Given the description of an element on the screen output the (x, y) to click on. 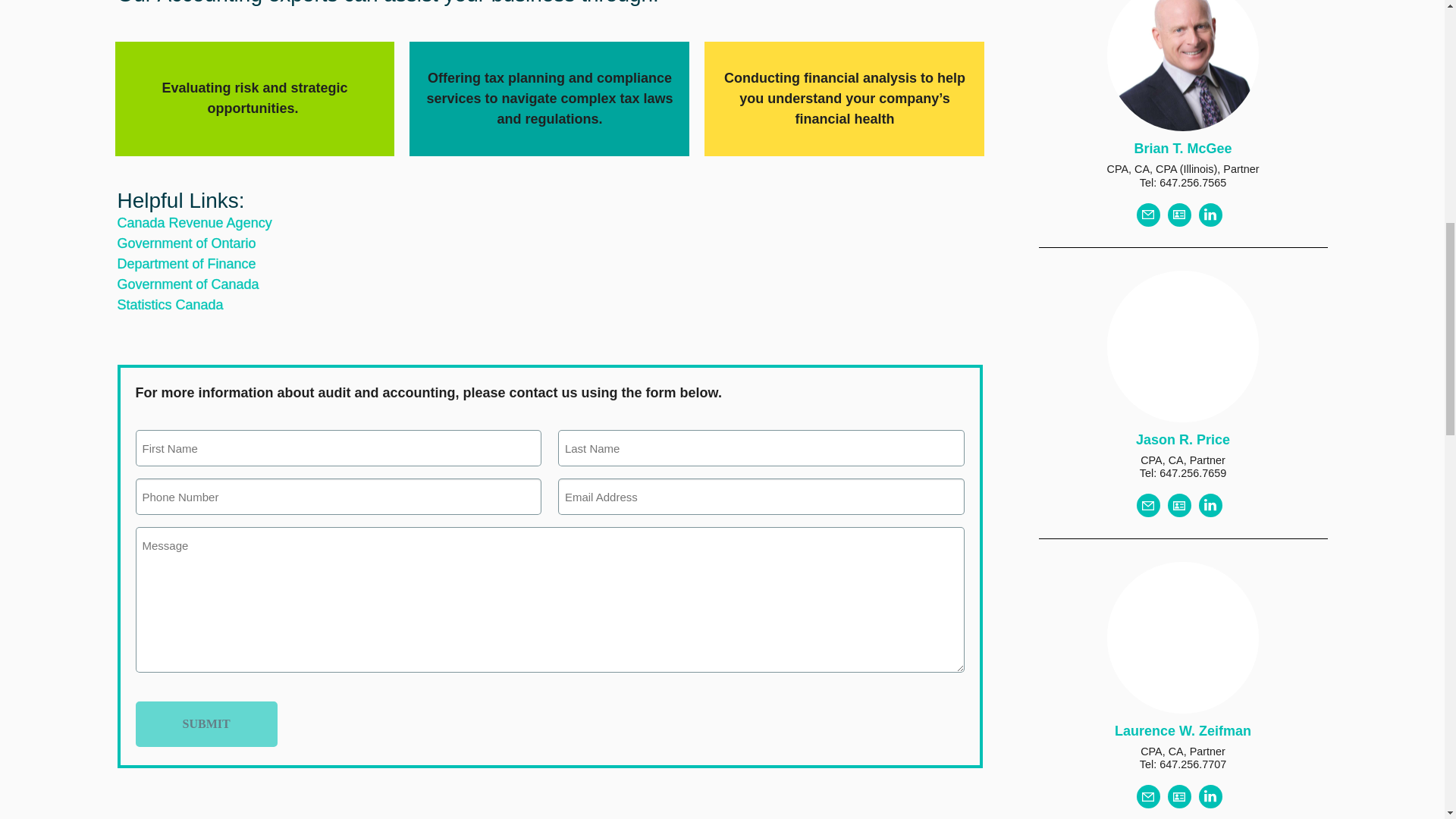
Brian T. McGee (1182, 148)
Jason R. Price (1182, 439)
Submit (205, 723)
Laurence W. Zeifman (1182, 730)
